Given the description of an element on the screen output the (x, y) to click on. 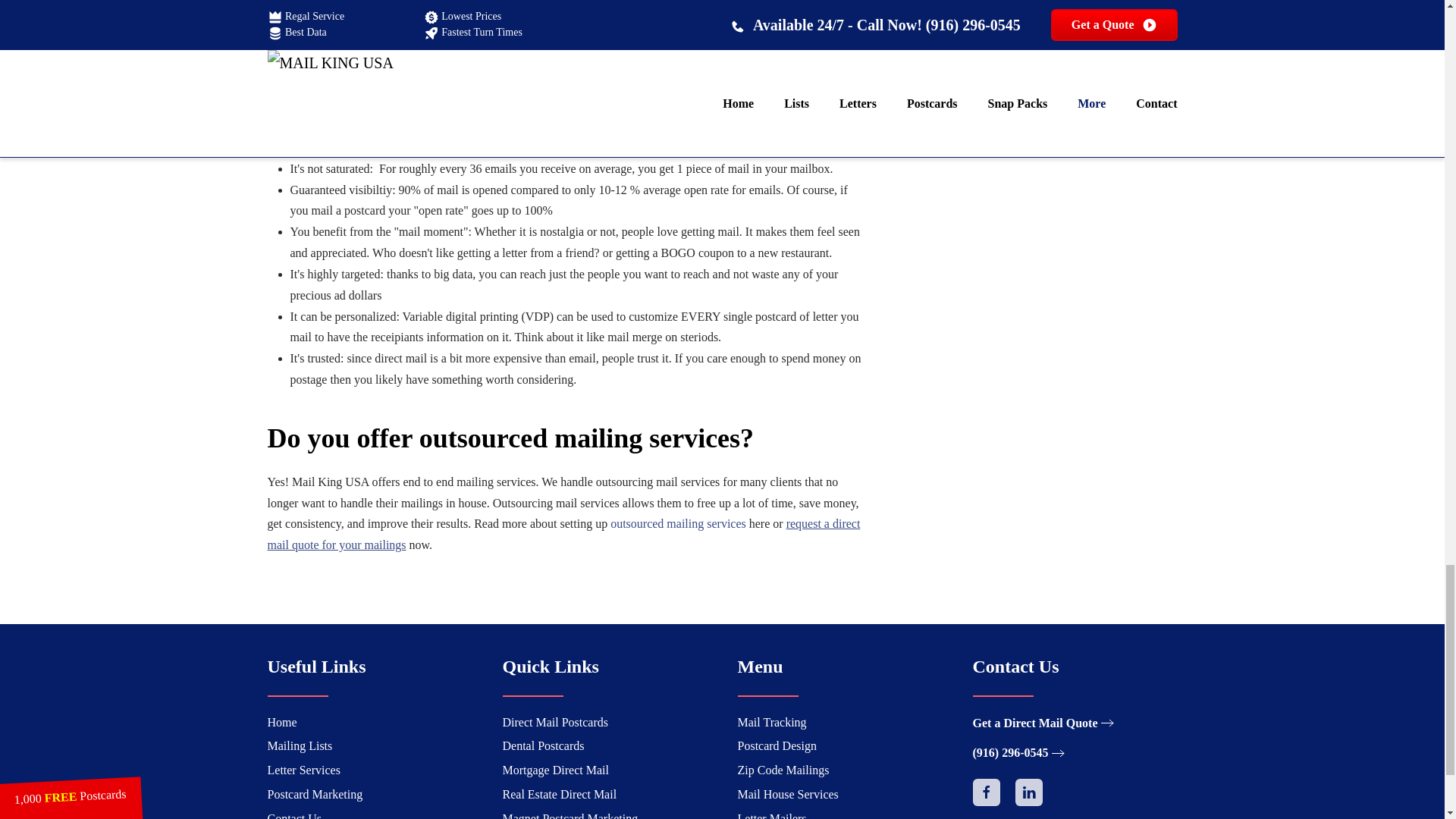
Call us for a direct mail quote (1020, 752)
